Given the description of an element on the screen output the (x, y) to click on. 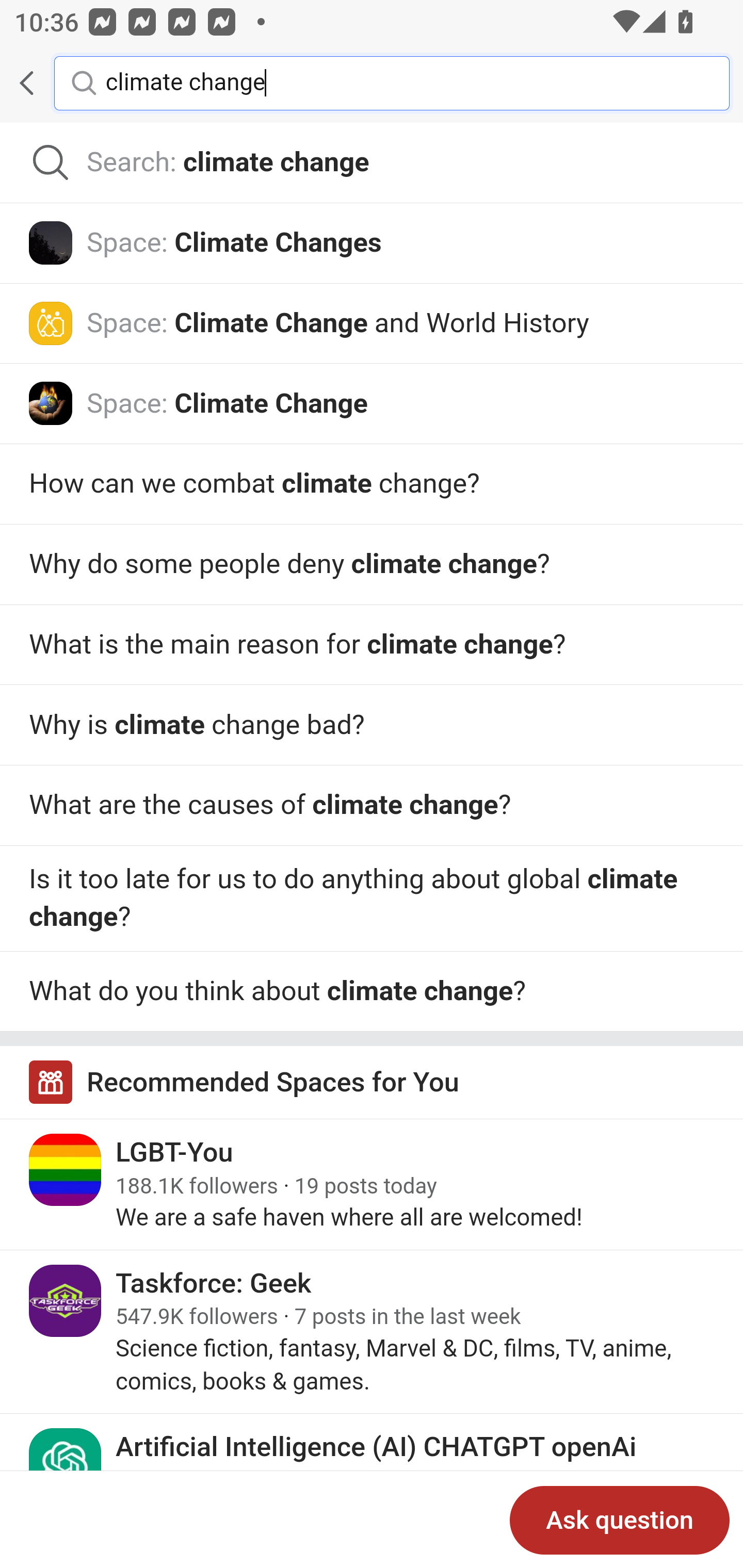
Me Home Search Add (371, 82)
climate change (402, 82)
Search: cli (371, 162)
Icon for Climate Changes (50, 241)
Icon for Climate Change and World History (50, 322)
Icon for Climate Change (50, 403)
How can we combat climate change? (371, 484)
What is the main reason for climate change? (371, 805)
How can I become fluent in English? (371, 991)
Icon for LGBT-You (65, 1169)
Icon for Taskforce: Geek (65, 1300)
